Given the description of an element on the screen output the (x, y) to click on. 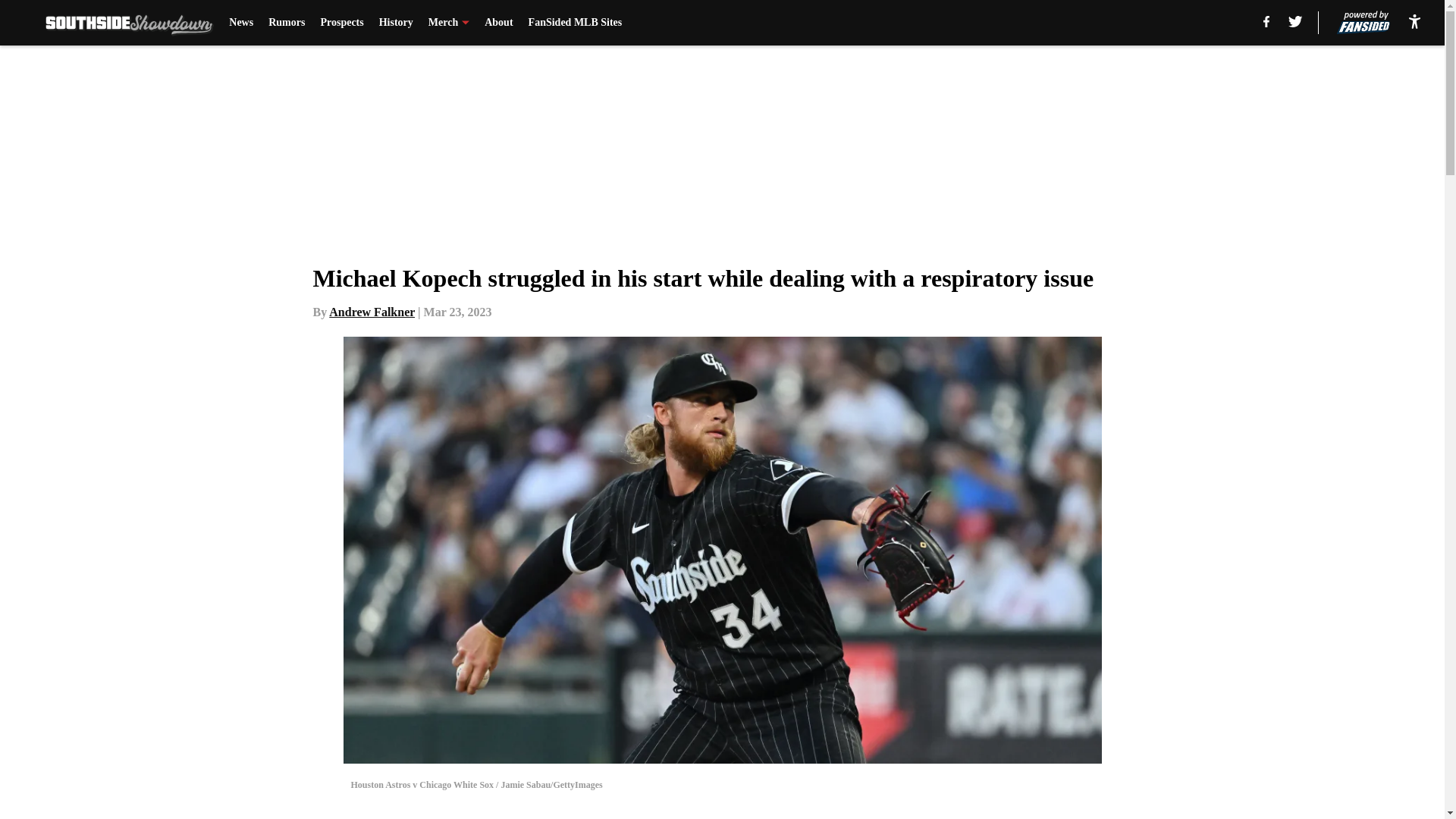
News (240, 22)
Rumors (285, 22)
FanSided MLB Sites (575, 22)
Andrew Falkner (371, 311)
About (498, 22)
Prospects (341, 22)
History (395, 22)
